Given the description of an element on the screen output the (x, y) to click on. 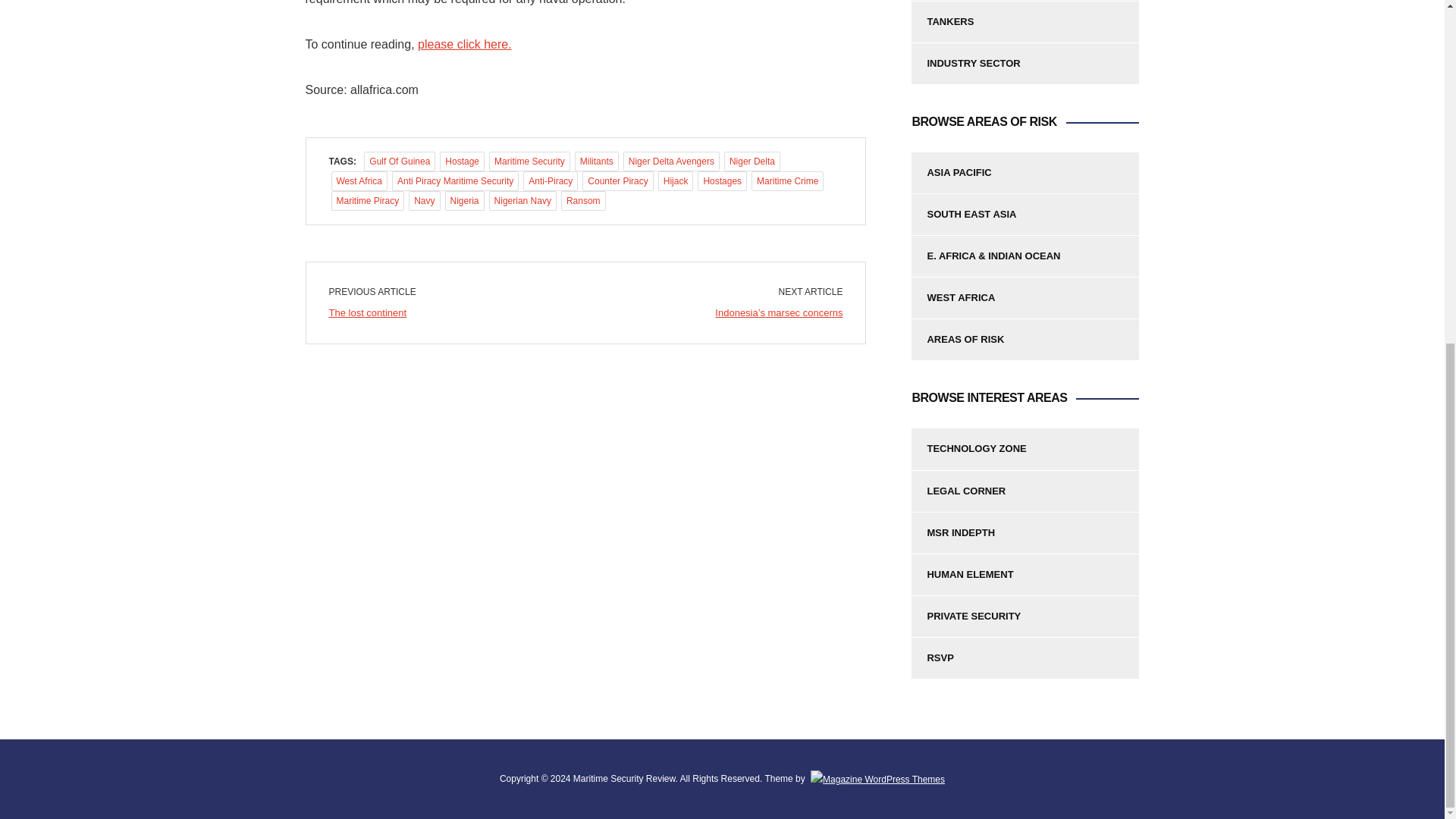
please click here. (464, 43)
Maritime Crime (787, 180)
Hijack (676, 180)
Hostages (721, 180)
Anti Piracy Maritime Security (454, 180)
West Africa (358, 180)
Maritime Piracy (367, 200)
Niger Delta (751, 161)
Hostage (461, 161)
Maritime Security (529, 161)
